Given the description of an element on the screen output the (x, y) to click on. 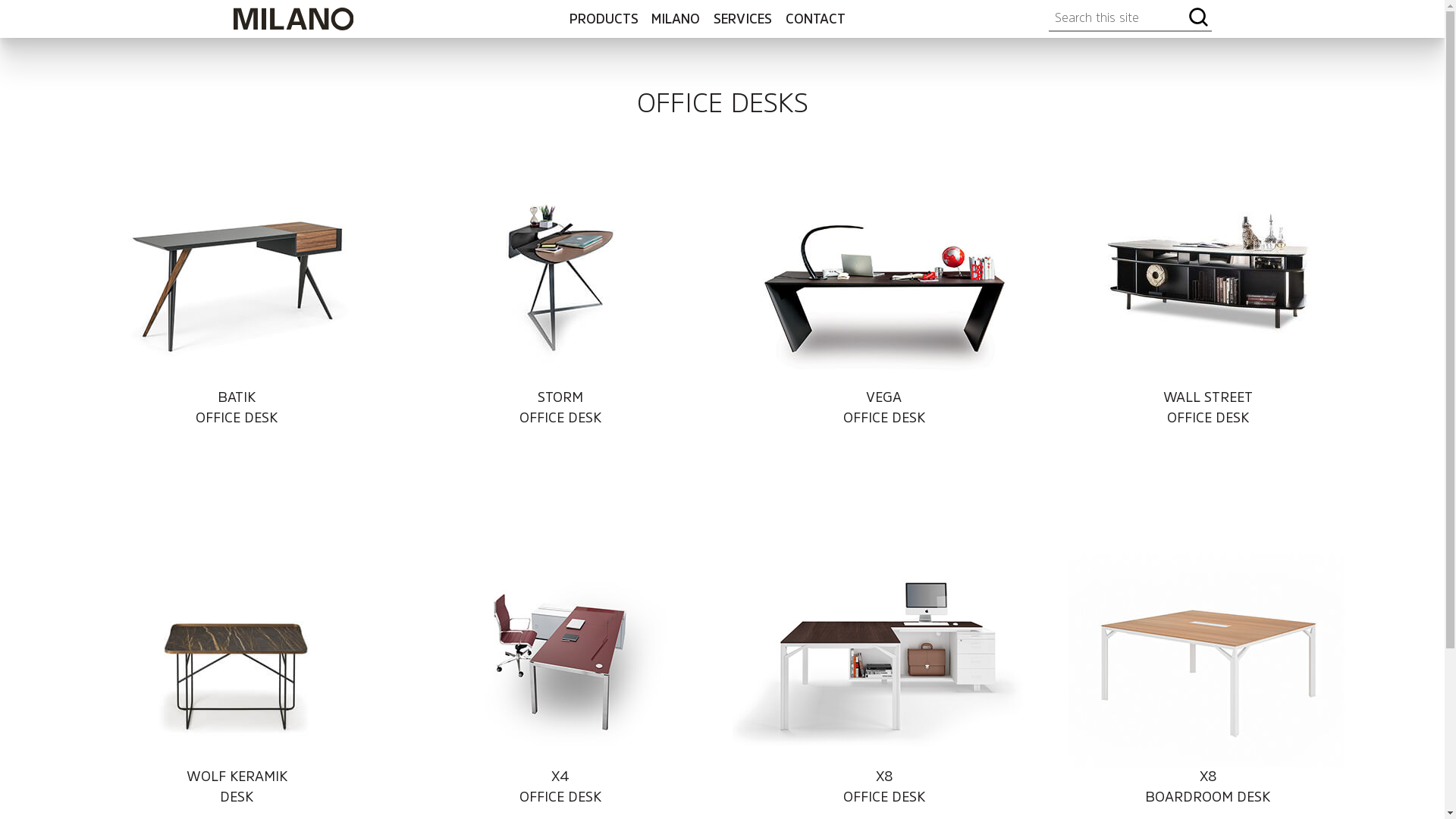
MILANO Element type: text (675, 18)
Batik Office Desk Element type: hover (236, 281)
BATIK
OFFICE DESK Element type: text (236, 311)
Storm Office Desk Element type: hover (560, 281)
CONTACT Element type: text (815, 18)
WALL STREET
OFFICE DESK Element type: text (1207, 311)
VEGA
OFFICE DESK Element type: text (883, 311)
X8 Office Desk Element type: hover (883, 614)
X8 Boardroom Desk Element type: hover (1207, 614)
Vega Office Desk Element type: hover (883, 281)
SERVICES Element type: text (742, 18)
X4 Office Desk Element type: hover (560, 614)
Wolf Keramik Desk Element type: hover (236, 614)
STORM
OFFICE DESK Element type: text (560, 311)
Wall Street Office Desk Element type: hover (1207, 281)
PRODUCTS Element type: text (603, 18)
